Given the description of an element on the screen output the (x, y) to click on. 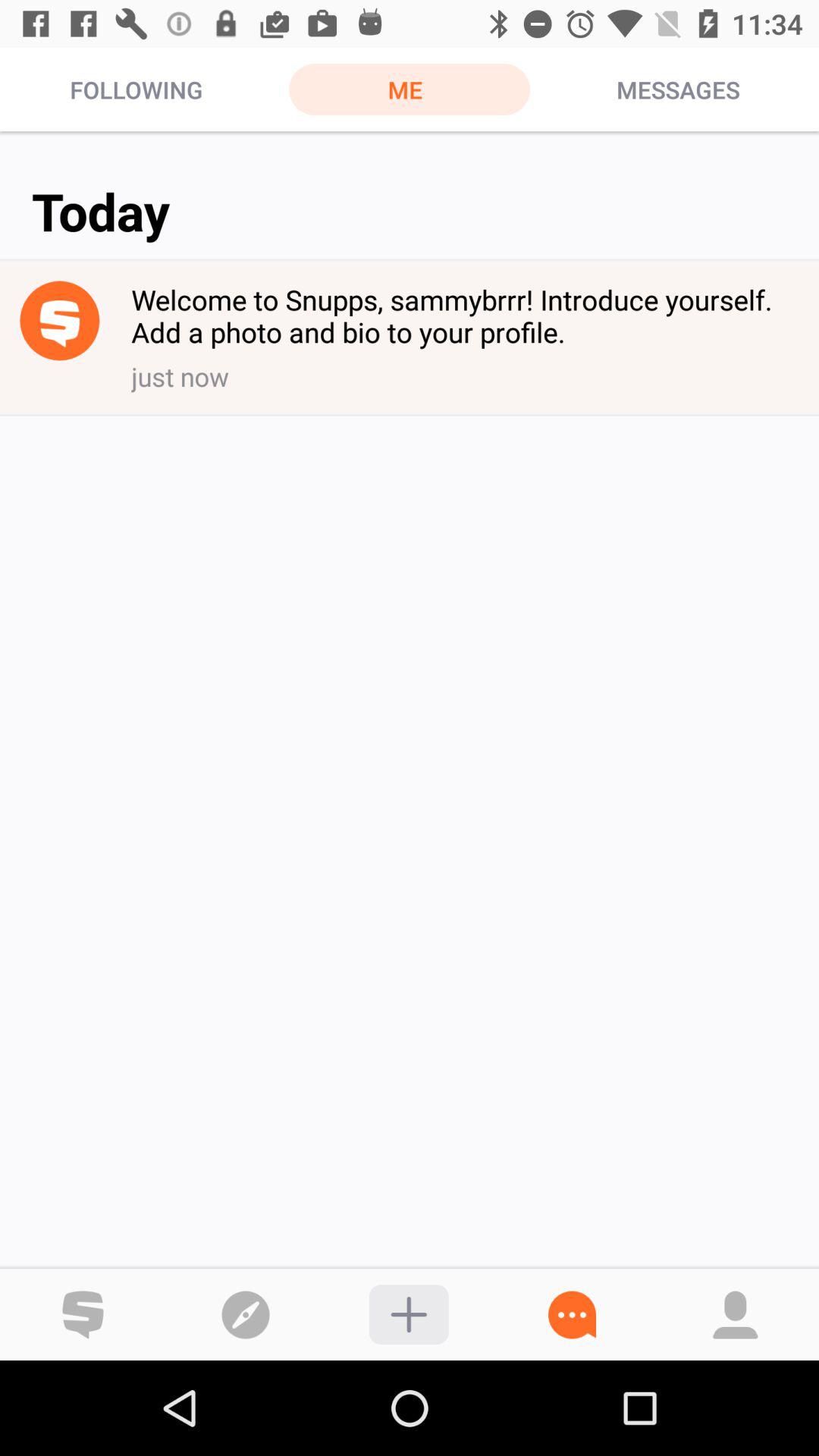
go to add button (408, 1314)
